Given the description of an element on the screen output the (x, y) to click on. 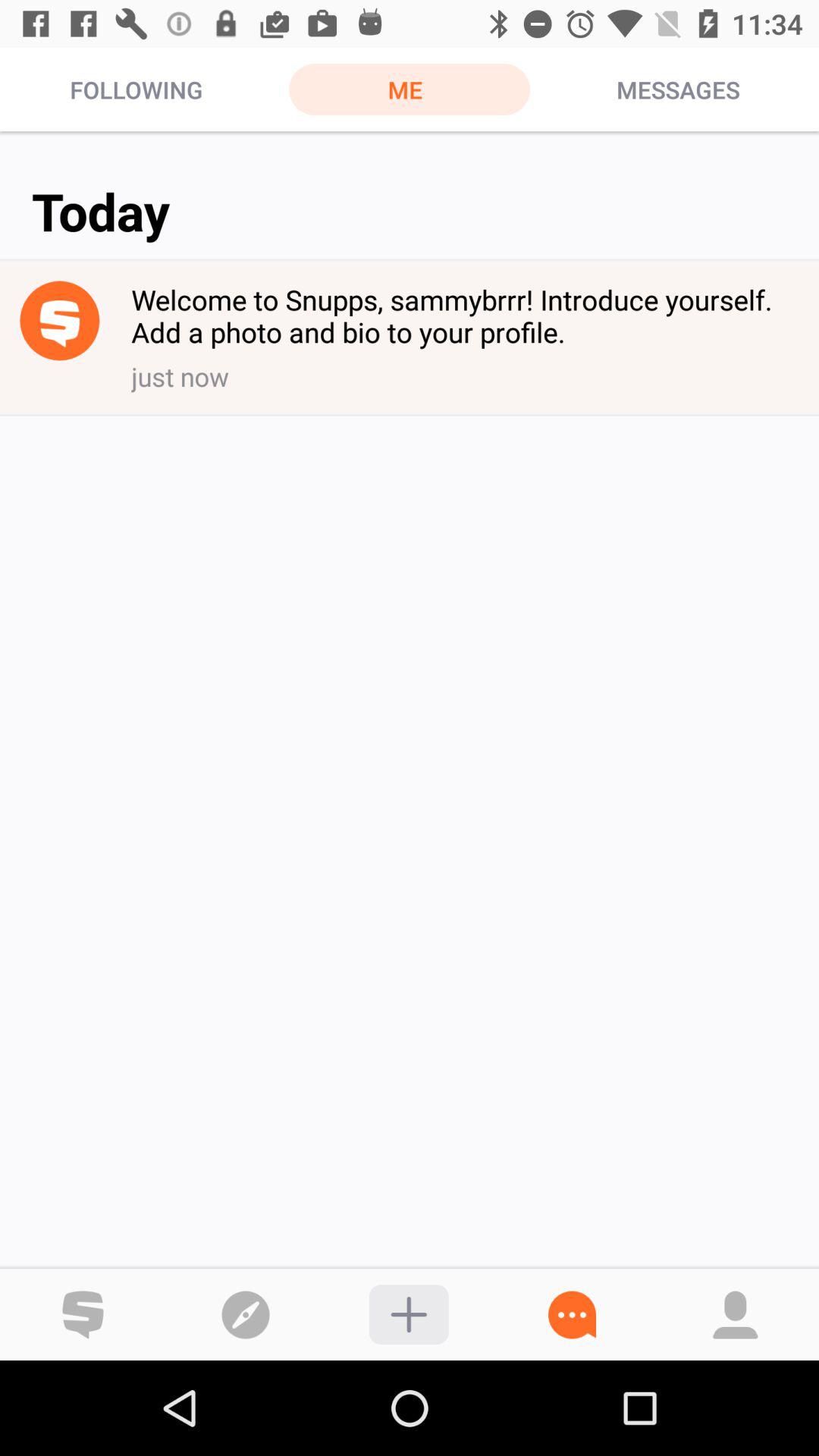
go to add button (408, 1314)
